Given the description of an element on the screen output the (x, y) to click on. 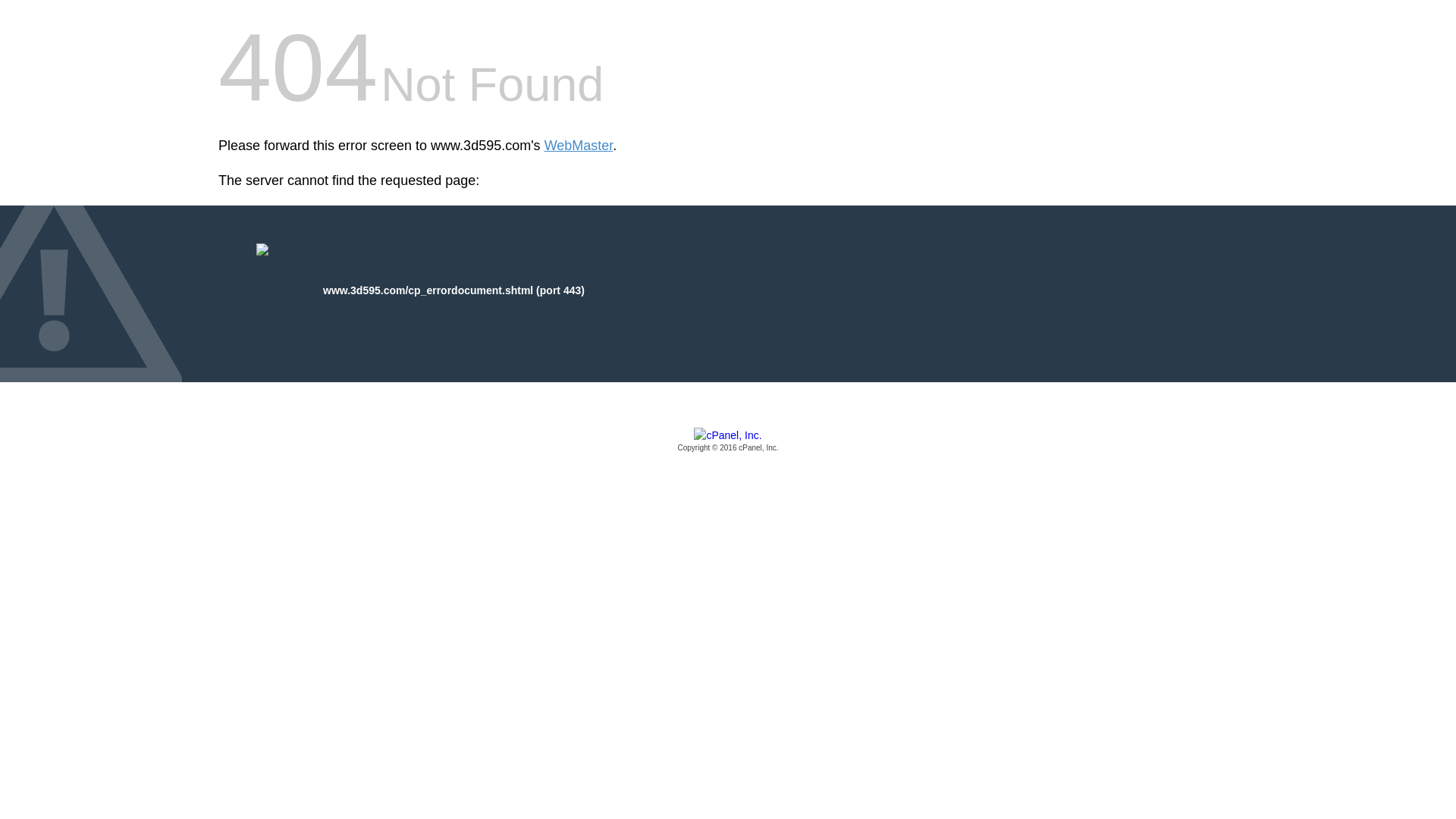
WebMaster Element type: text (578, 145)
